Given the description of an element on the screen output the (x, y) to click on. 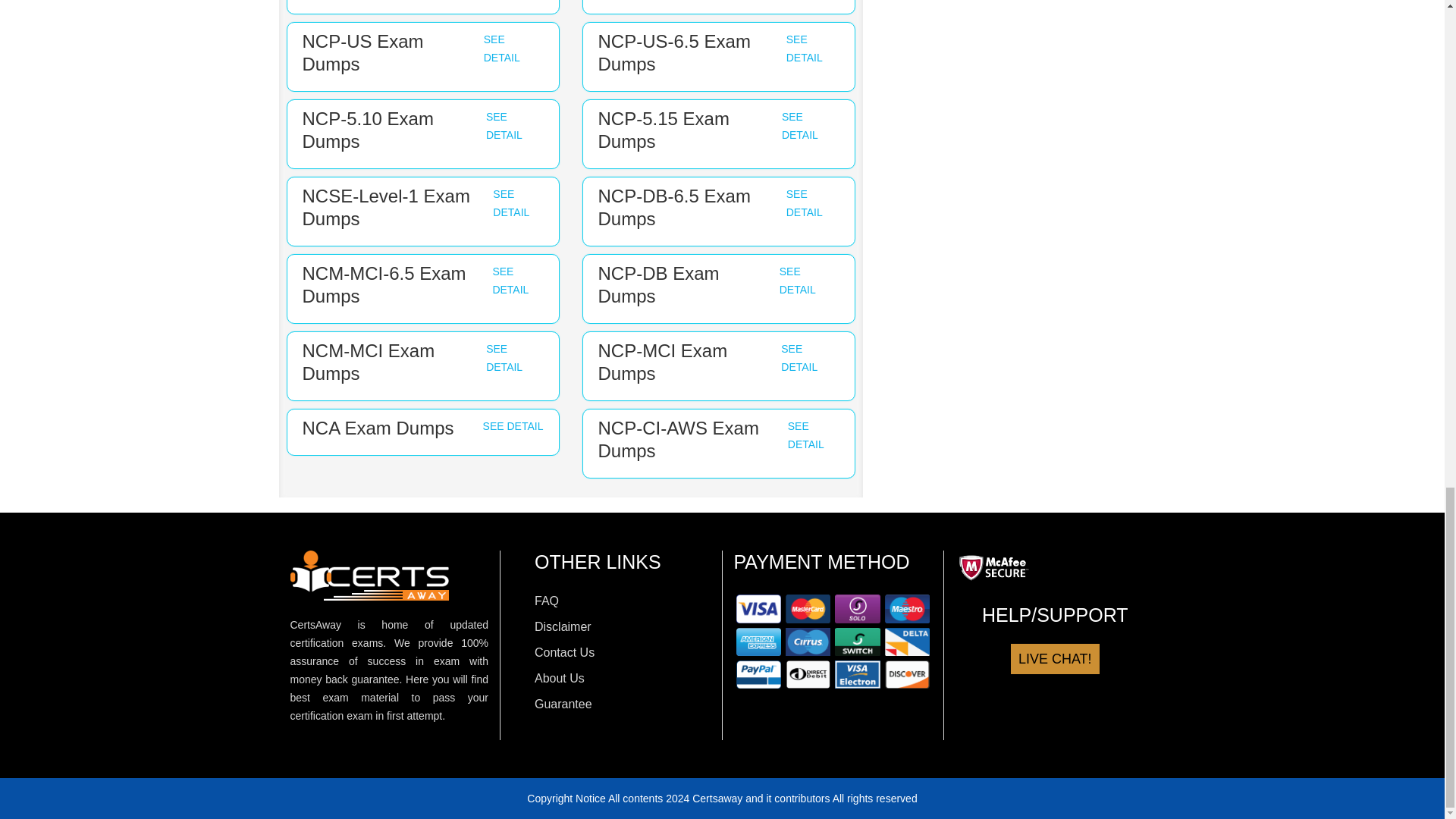
SEE DETAIL (804, 203)
SEE DETAIL (799, 125)
SEE DETAIL (504, 125)
SEE DETAIL (511, 203)
SEE DETAIL (501, 48)
SEE DETAIL (804, 48)
